Given the description of an element on the screen output the (x, y) to click on. 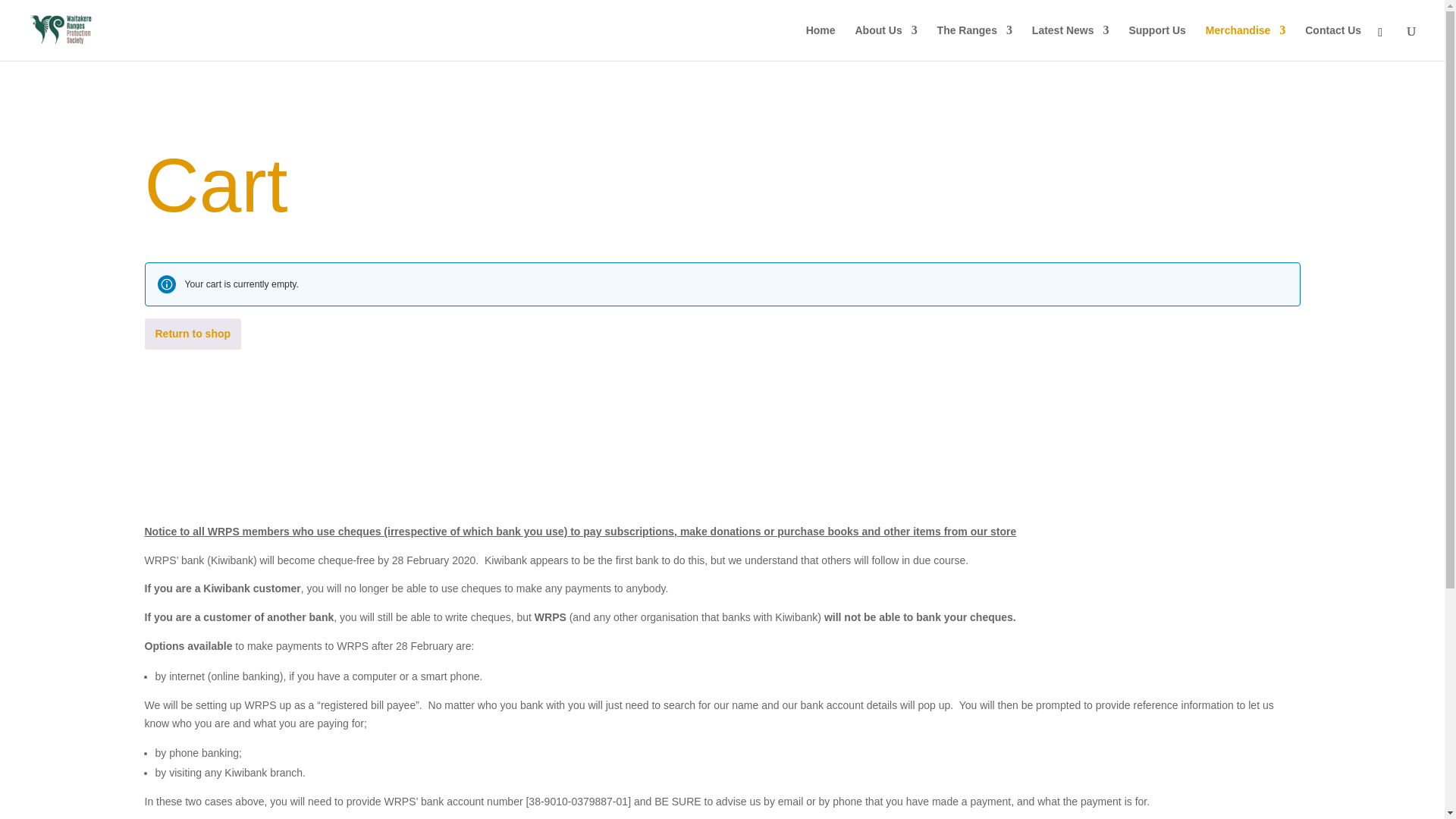
The Ranges (974, 42)
Contact Us (1332, 42)
About Us (885, 42)
Support Us (1156, 42)
Return to shop (192, 333)
Merchandise (1245, 42)
Latest News (1070, 42)
